Given the description of an element on the screen output the (x, y) to click on. 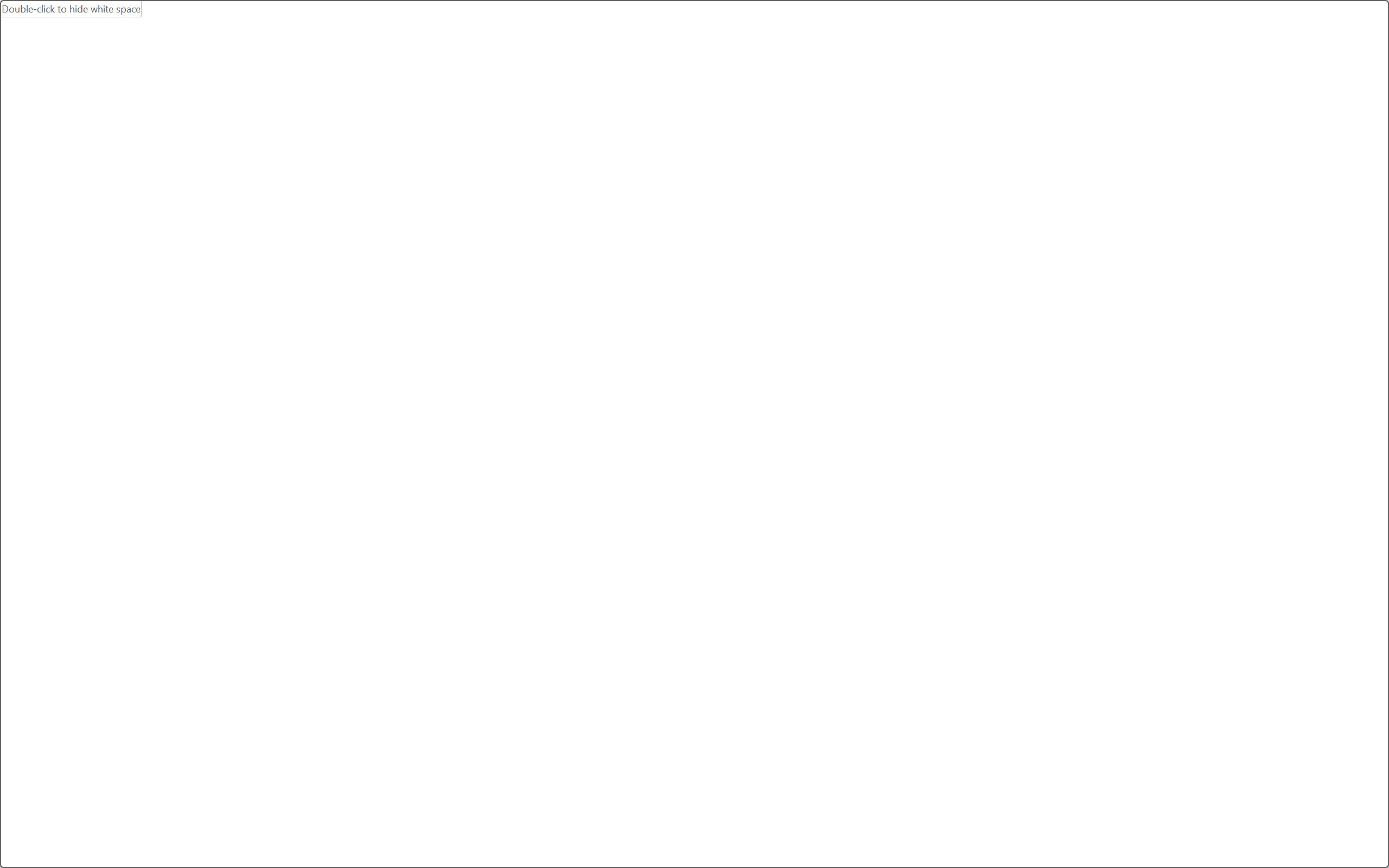
humid (650, 497)
Character Border (356, 82)
Earth's polar (533, 513)
groundwater (800, 513)
Header -Section 1- (687, 194)
Text Highlight Color Yellow (269, 108)
landmasses (731, 480)
70.8% (596, 465)
sheets of ice (690, 505)
